Given the description of an element on the screen output the (x, y) to click on. 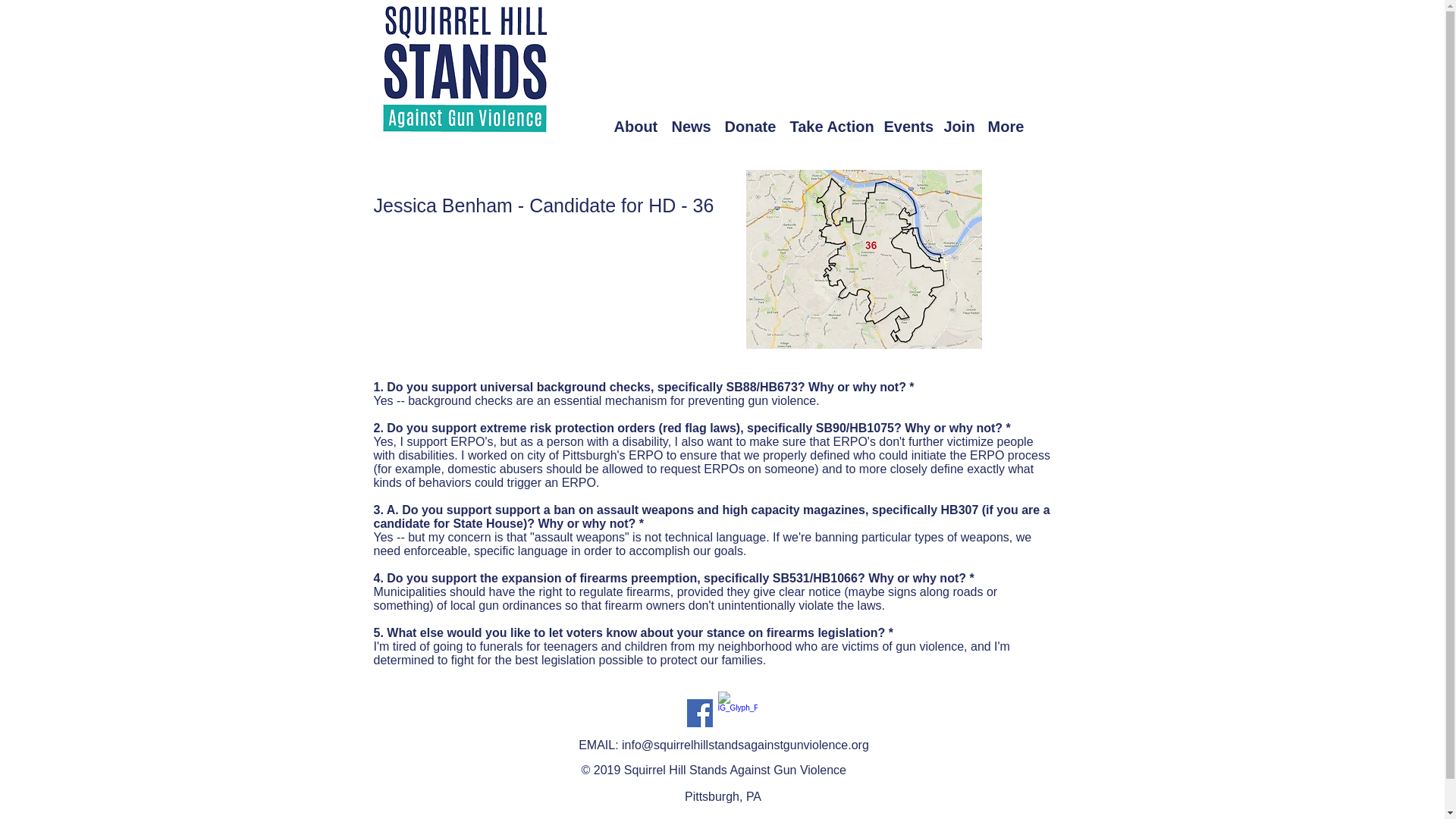
Join (957, 125)
About (635, 125)
Take Action (829, 125)
Donate (750, 125)
Events (906, 125)
News (690, 125)
